Given the description of an element on the screen output the (x, y) to click on. 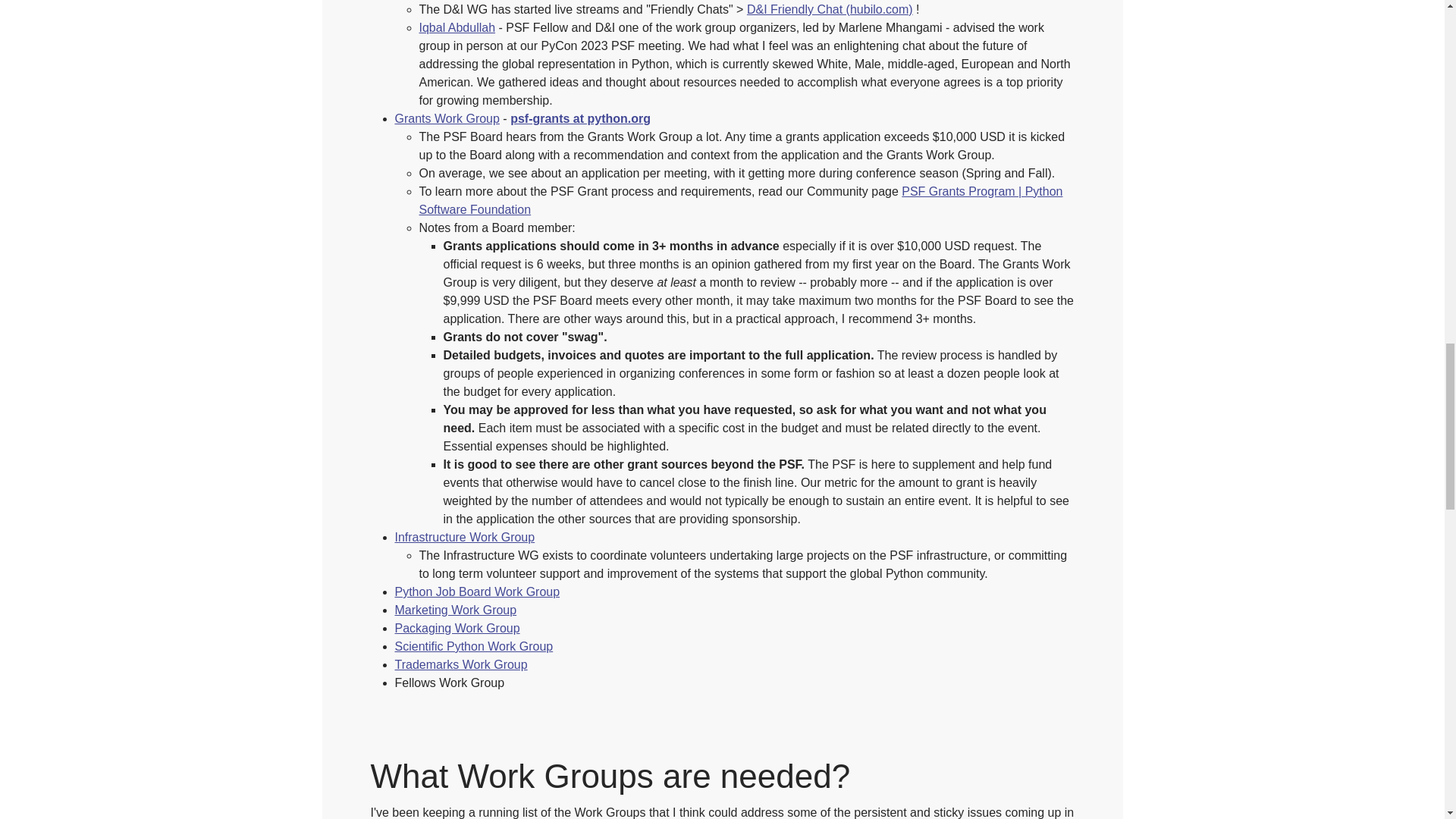
-grants at python.org (589, 118)
Iqbal Abdullah (457, 27)
Infrastructure Work Group (464, 536)
Grants Work Group (446, 118)
psf (519, 118)
